Given the description of an element on the screen output the (x, y) to click on. 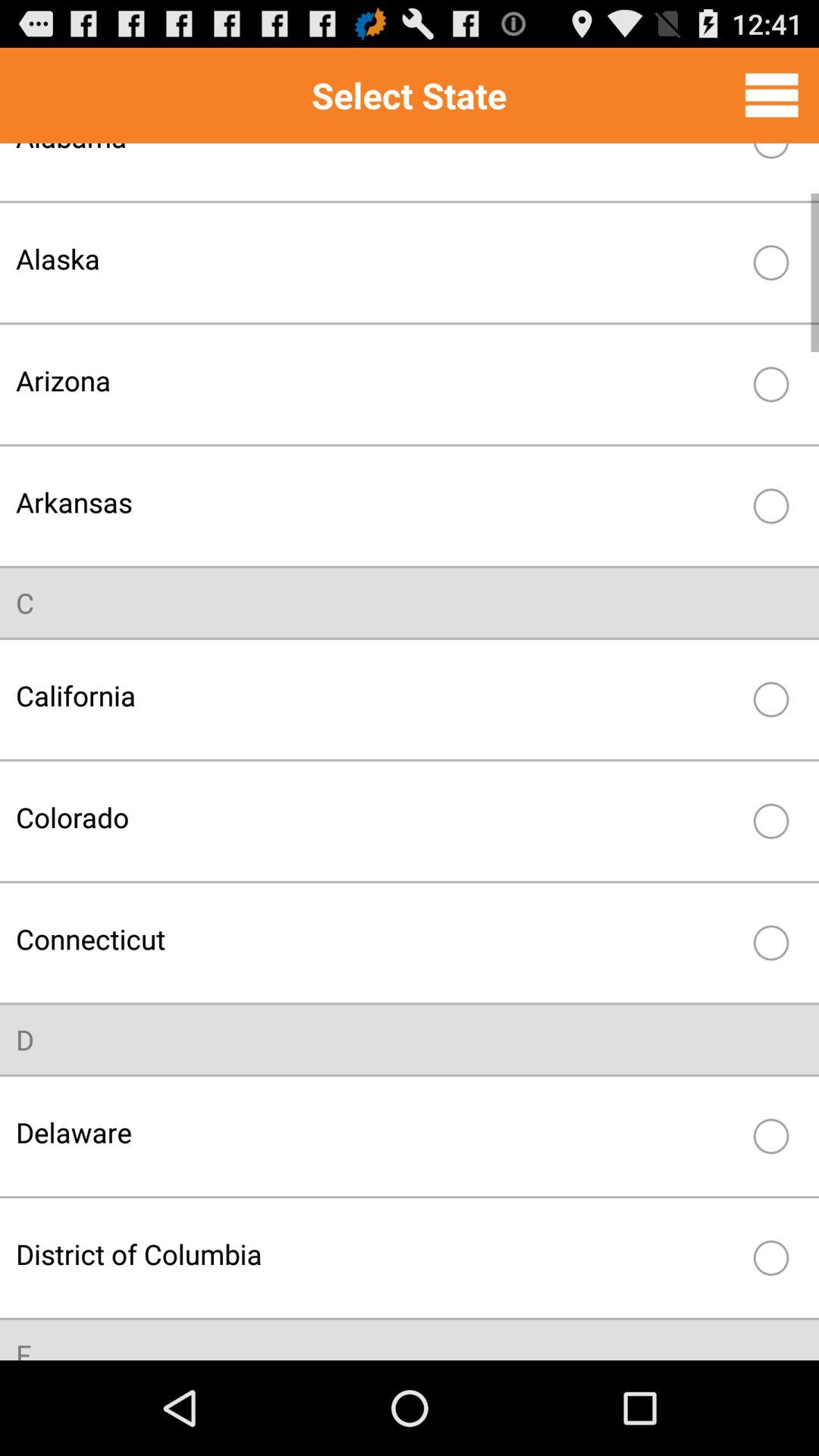
jump until the alabama icon (377, 159)
